Given the description of an element on the screen output the (x, y) to click on. 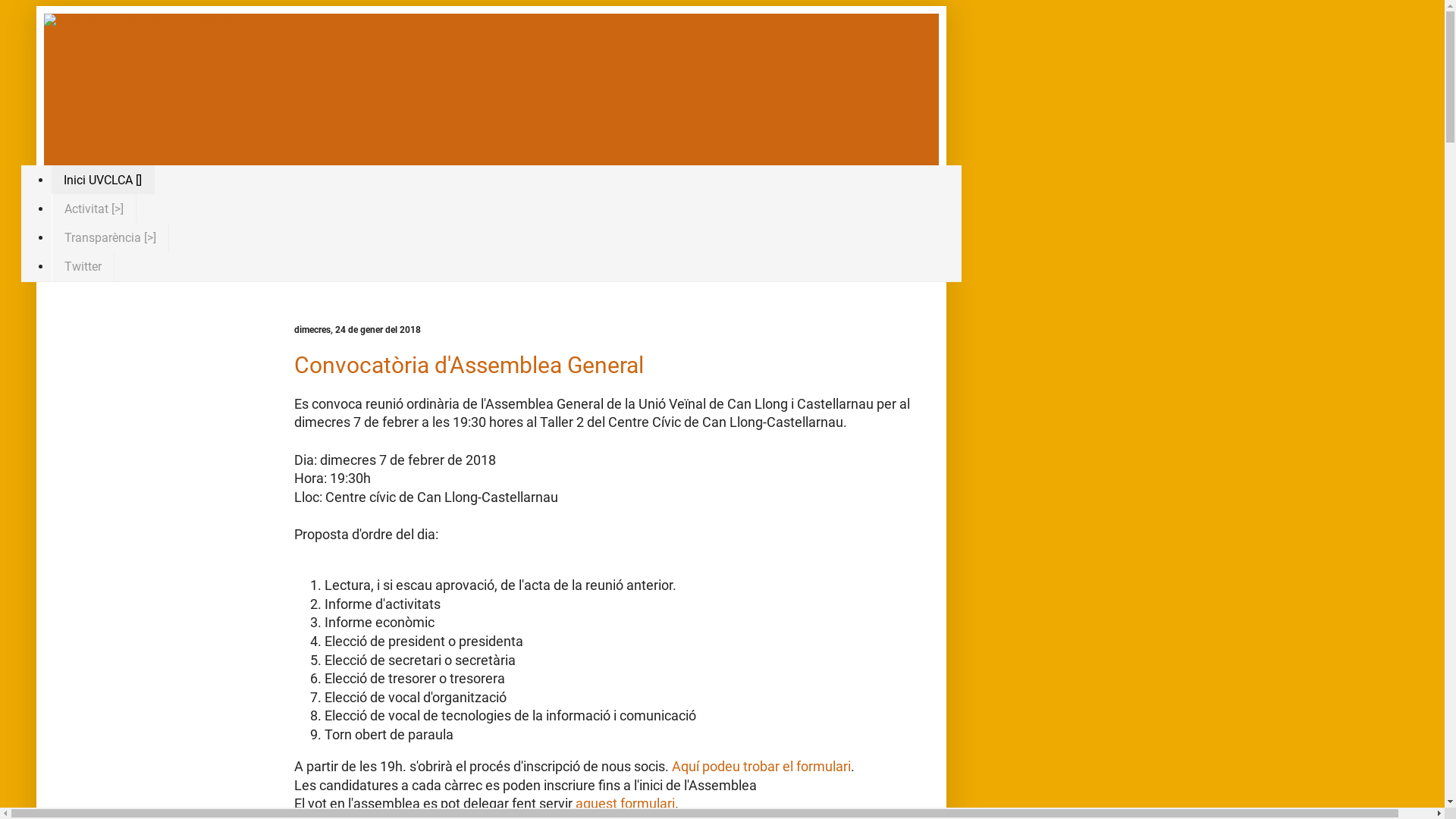
Activitat [>] Element type: text (93, 208)
aquest formulari Element type: text (624, 803)
Inici UVCLCA [] Element type: text (102, 179)
Twitter Element type: text (82, 266)
